Given the description of an element on the screen output the (x, y) to click on. 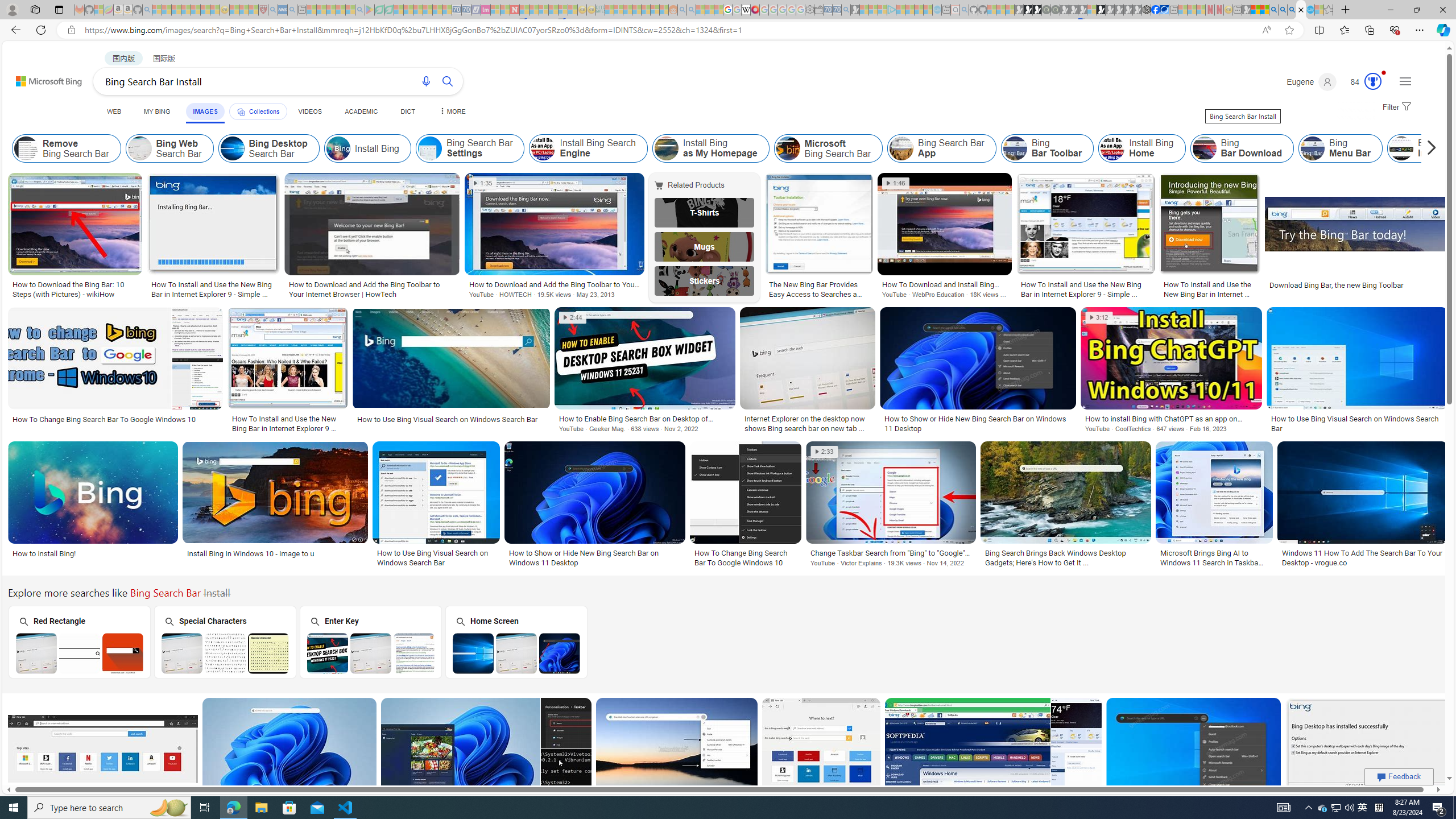
Utah sues federal government - Search - Sleeping (690, 9)
Install Bing as My Homepage (665, 148)
Eugene (1311, 81)
Bing Search Bar Enter Key Enter Key (370, 642)
Filter (1395, 107)
Bing T-Shirts (704, 212)
